Given the description of an element on the screen output the (x, y) to click on. 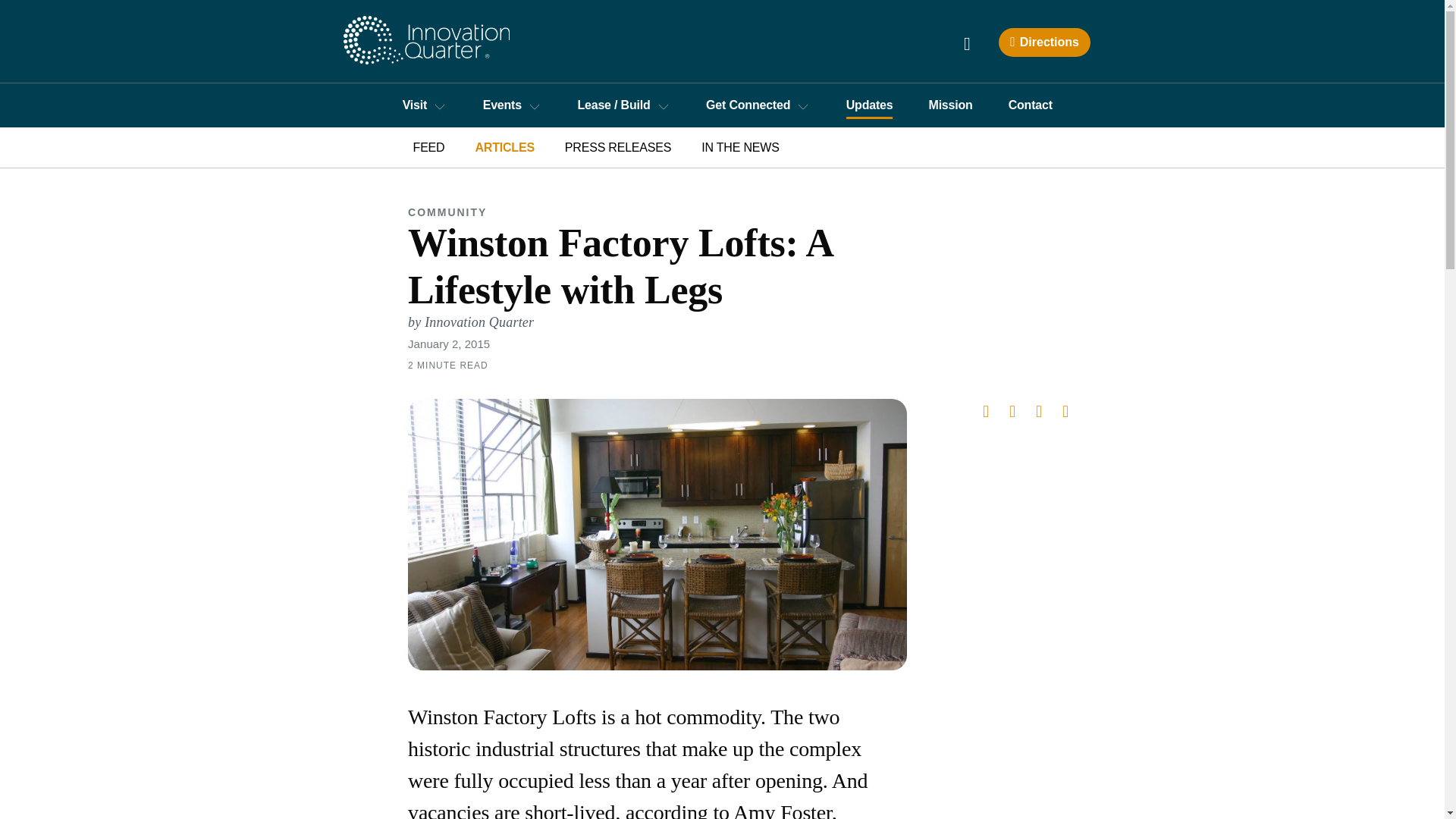
PRESS RELEASES (617, 147)
Get Connected (758, 105)
Directions (1043, 42)
Mission (950, 105)
Visit (424, 105)
ARTICLES (504, 147)
Updates (868, 105)
FEED (428, 147)
Events (511, 105)
Contact (1029, 105)
OPEN SEARCH BAR (739, 147)
COMMUNITY (967, 43)
